Given the description of an element on the screen output the (x, y) to click on. 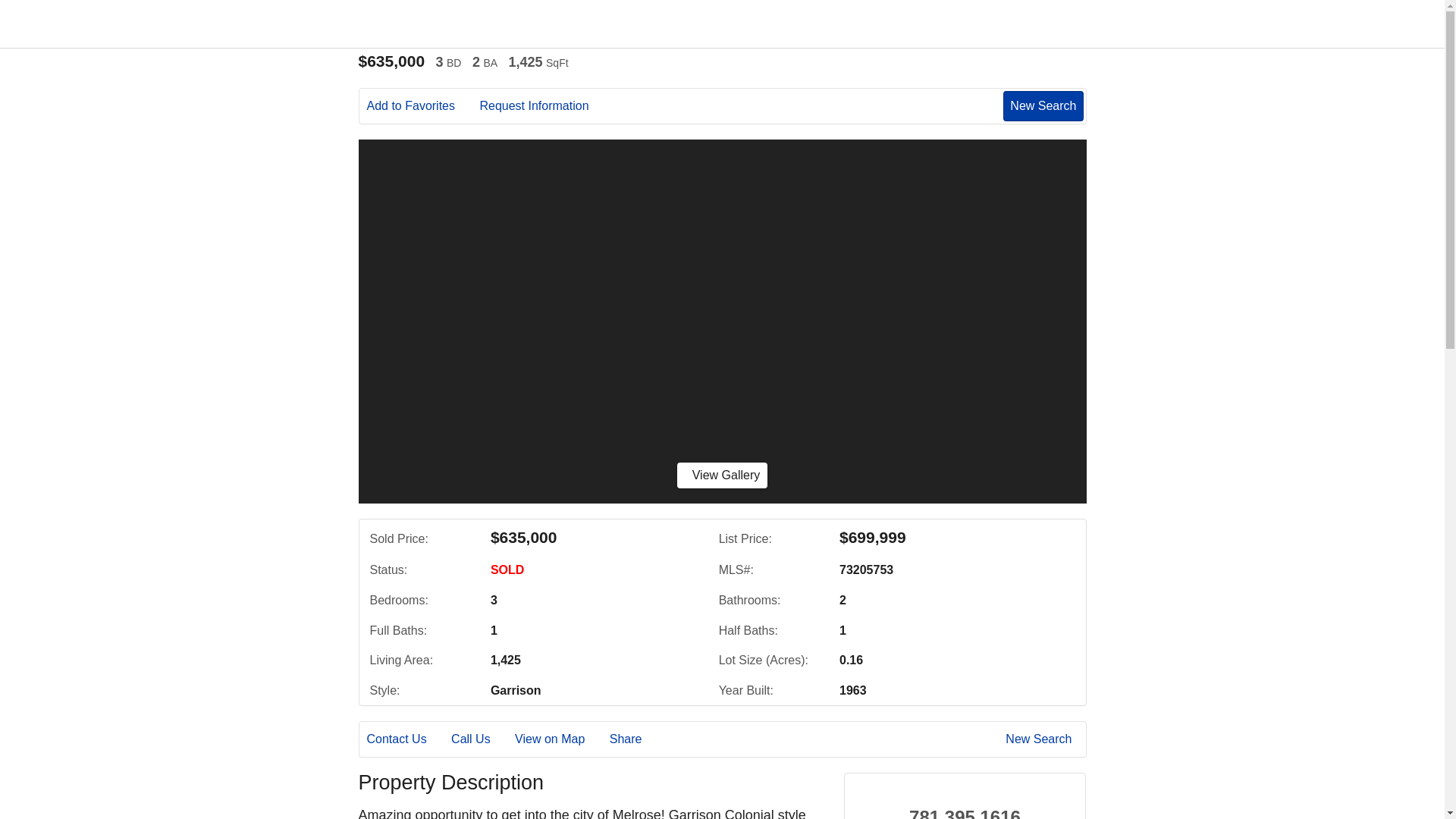
View Gallery (722, 475)
Contact Us (407, 739)
Call Us (481, 739)
View Gallery (722, 474)
Share (636, 739)
View on Map (560, 739)
Request Information (544, 106)
New Search (1041, 739)
Add to Favorites (421, 106)
New Search (1043, 105)
